Given the description of an element on the screen output the (x, y) to click on. 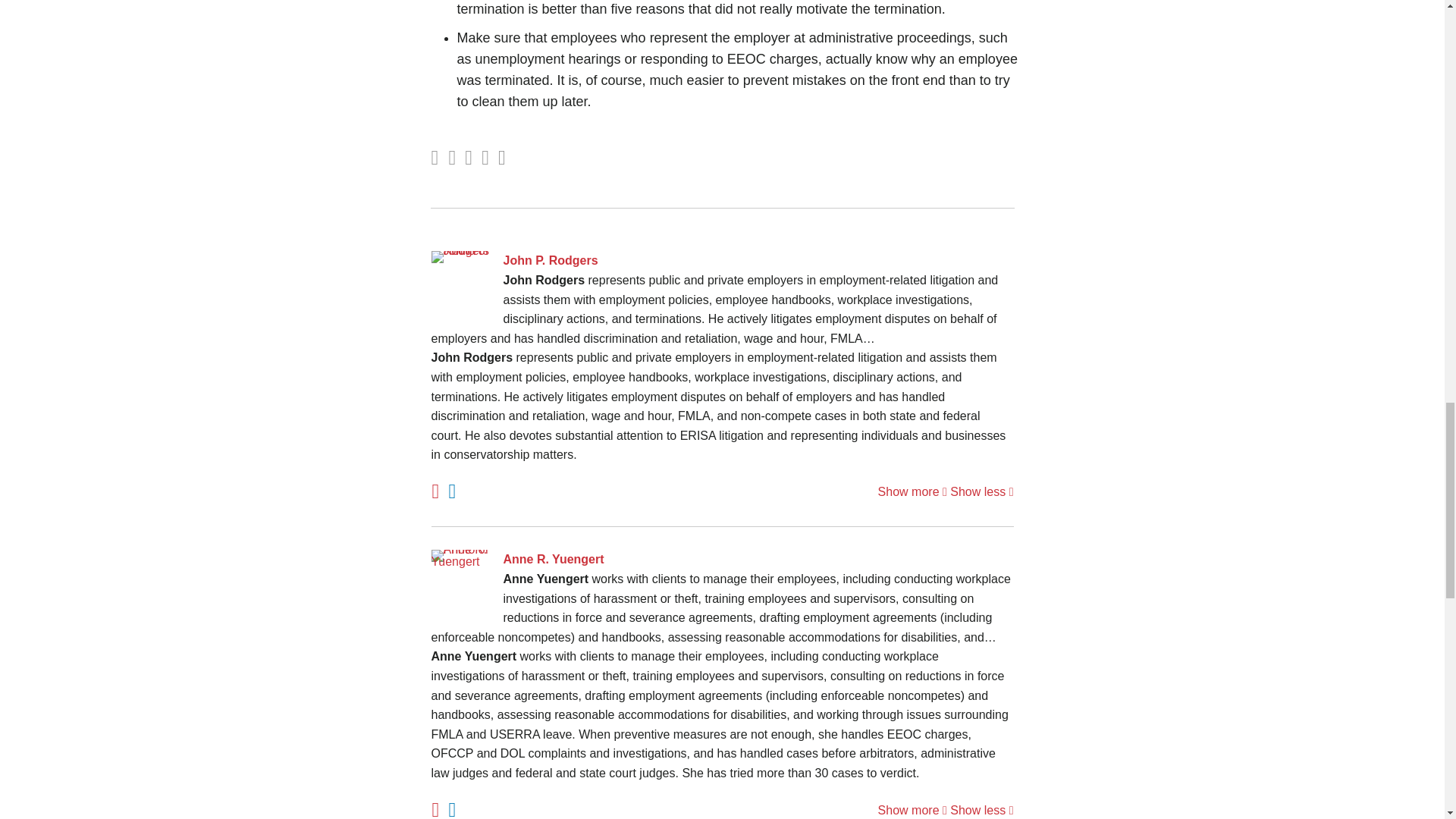
Show more (912, 491)
John P. Rodgers (721, 260)
Show less (981, 491)
